Given the description of an element on the screen output the (x, y) to click on. 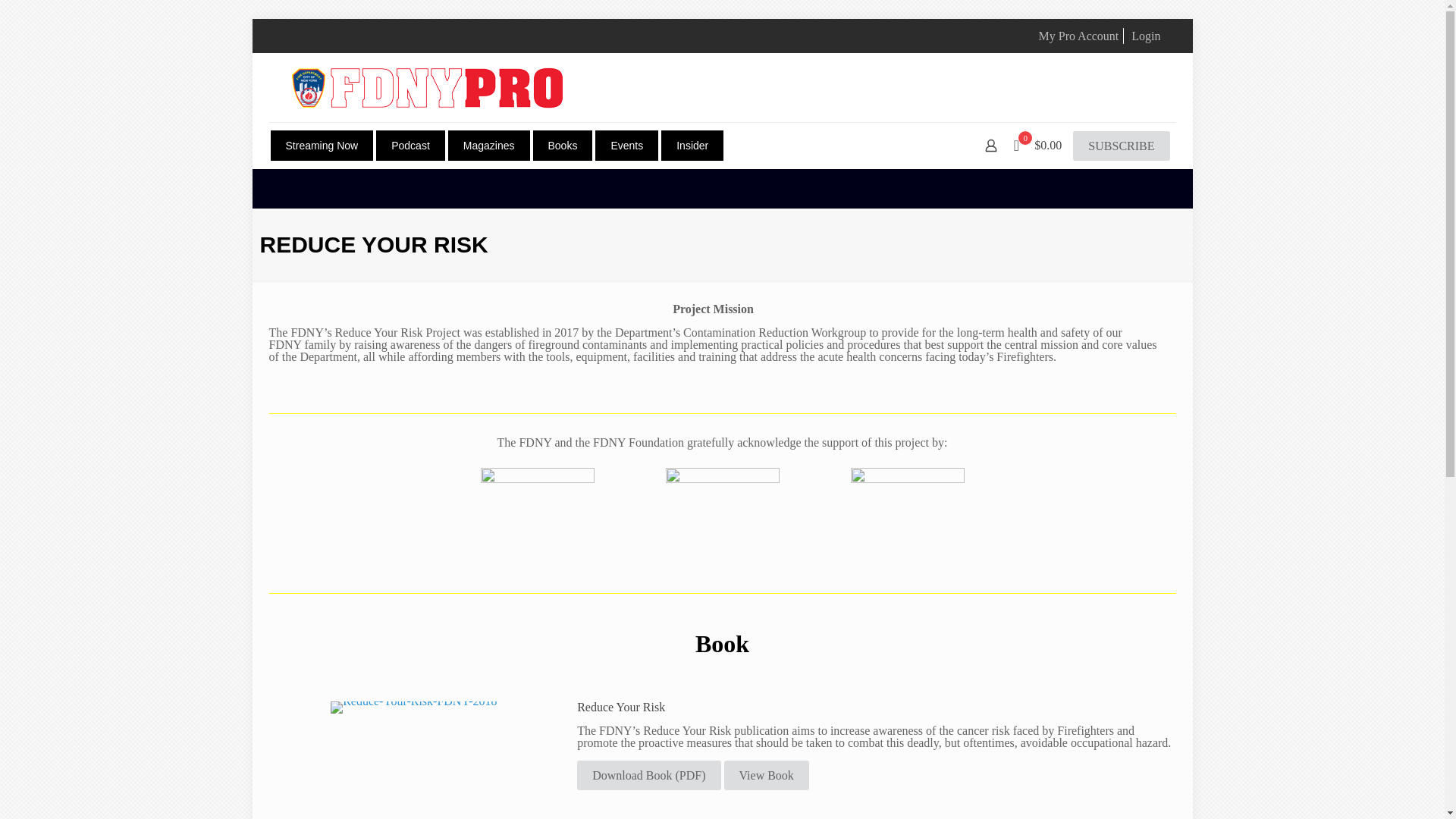
Streaming Now (320, 145)
Magazines (488, 145)
FDNY Pro (426, 87)
View Book (765, 775)
Podcast (410, 145)
Events (626, 145)
SUBSCRIBE (1121, 145)
Insider (692, 145)
My Pro Account (1079, 35)
Login (1145, 35)
